Given the description of an element on the screen output the (x, y) to click on. 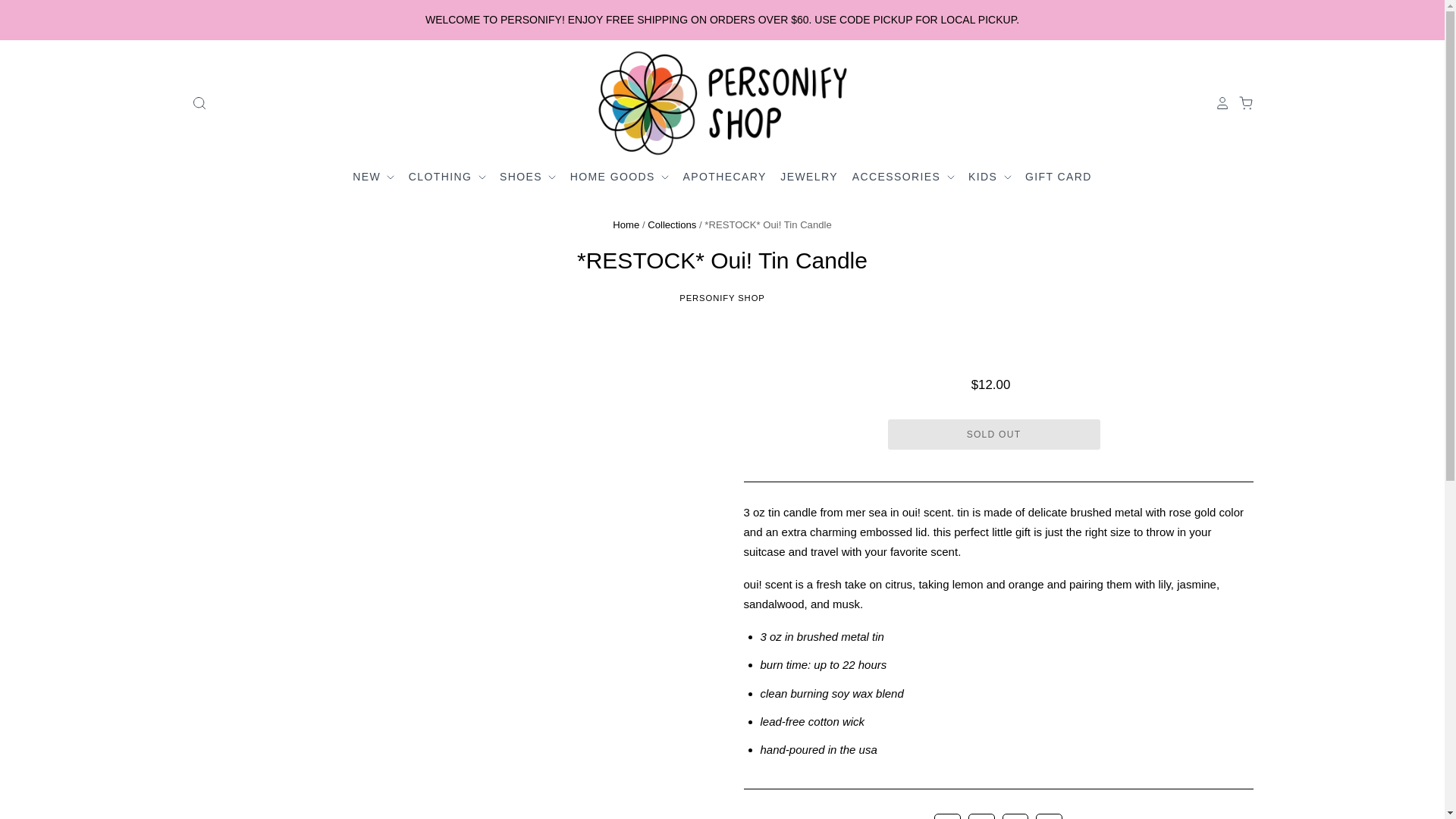
Sold out (992, 434)
NEW (374, 177)
